Given the description of an element on the screen output the (x, y) to click on. 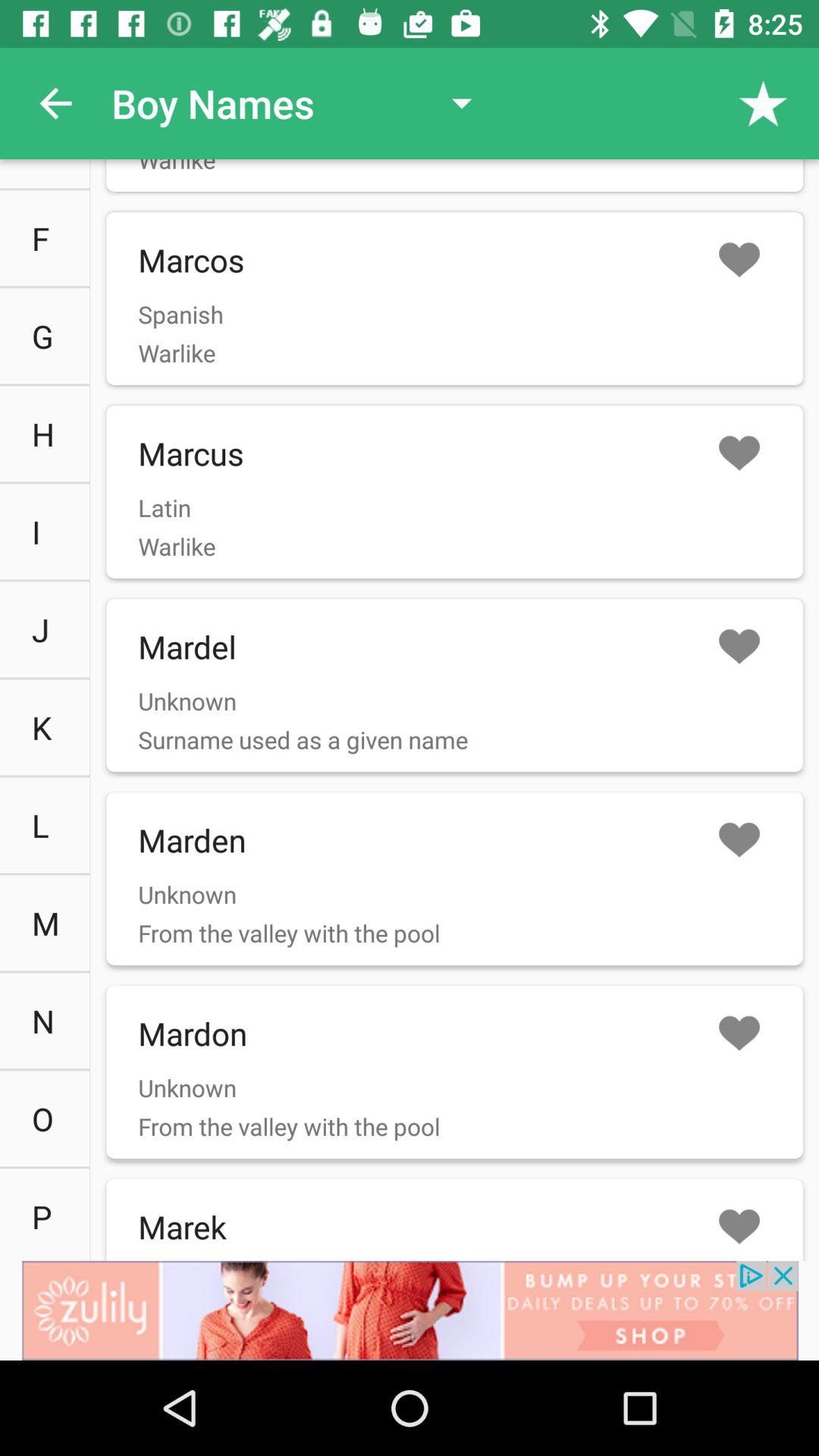
advertisement page (409, 1310)
